Given the description of an element on the screen output the (x, y) to click on. 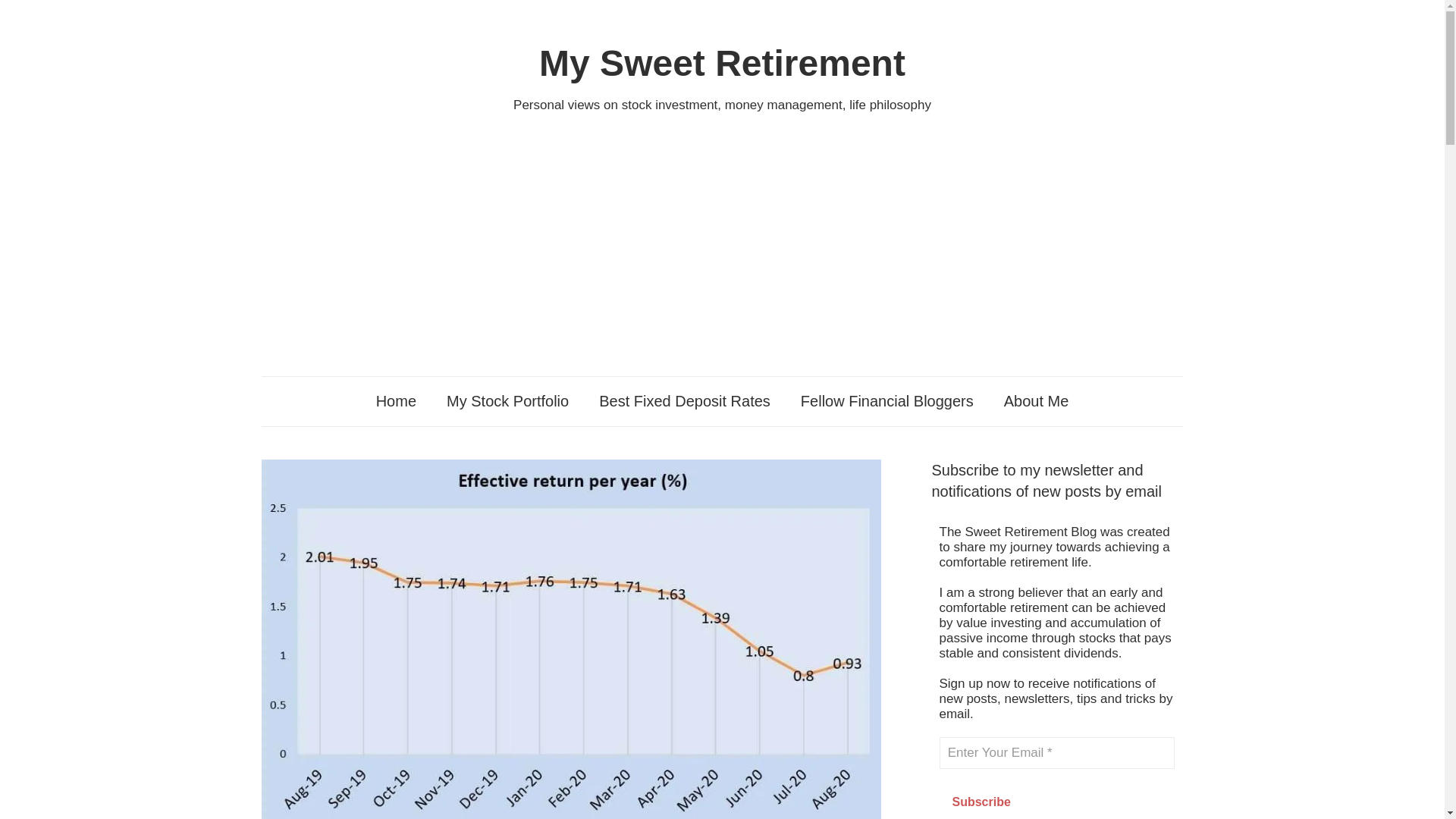
About Me (1036, 400)
Best Fixed Deposit Rates (684, 400)
Subscribe (981, 801)
My Stock Portfolio (506, 400)
Subscribe (981, 801)
Home (395, 400)
My Sweet Retirement (721, 63)
Fellow Financial Bloggers (887, 400)
Enter Your Email (1056, 753)
